Given the description of an element on the screen output the (x, y) to click on. 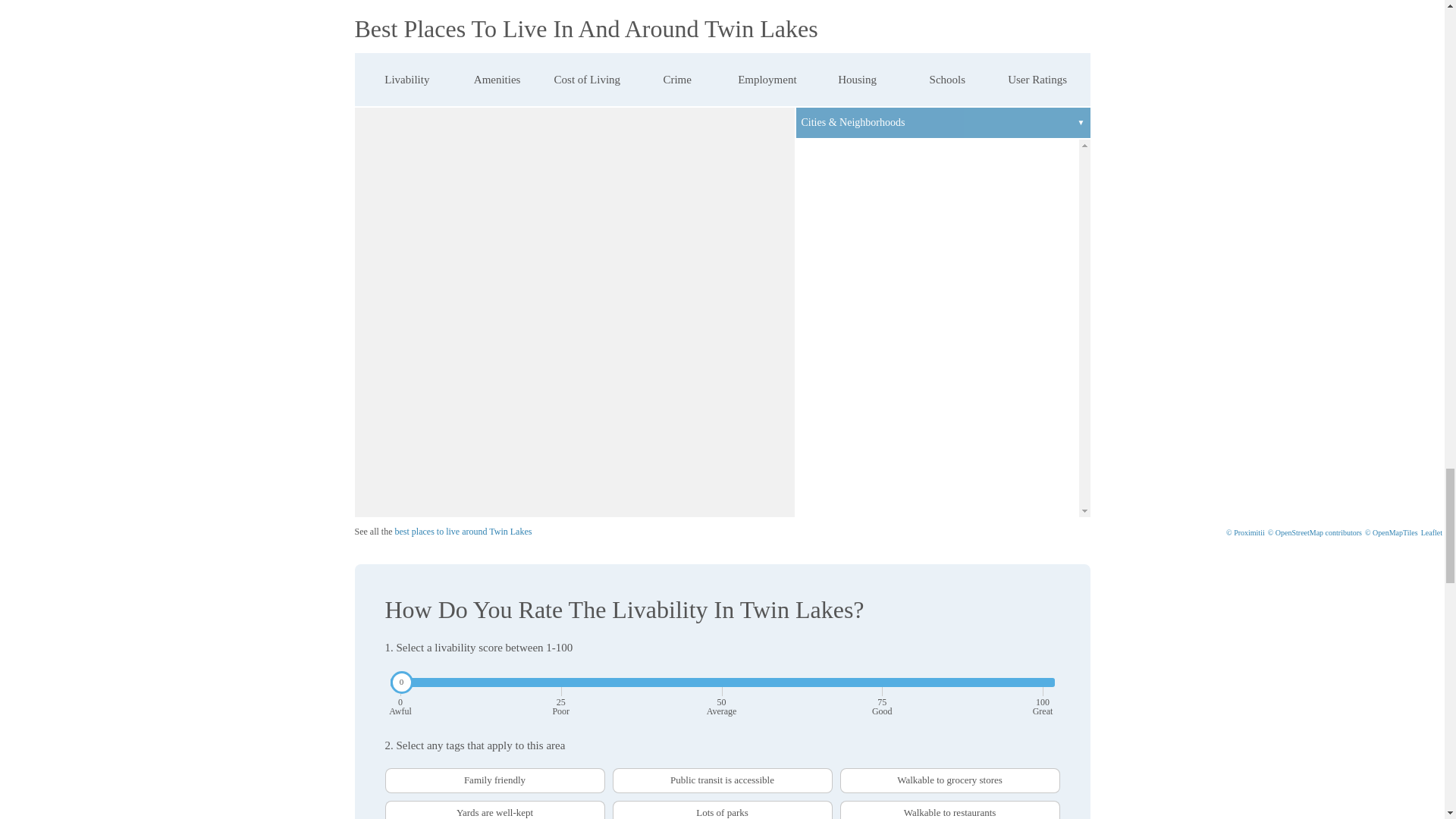
00020 (389, 773)
00010 (389, 773)
00004 (389, 773)
0 (722, 681)
00002 (389, 773)
00080 (389, 773)
00001 (389, 773)
00008 (389, 773)
00100 (389, 773)
00400 (389, 773)
